Given the description of an element on the screen output the (x, y) to click on. 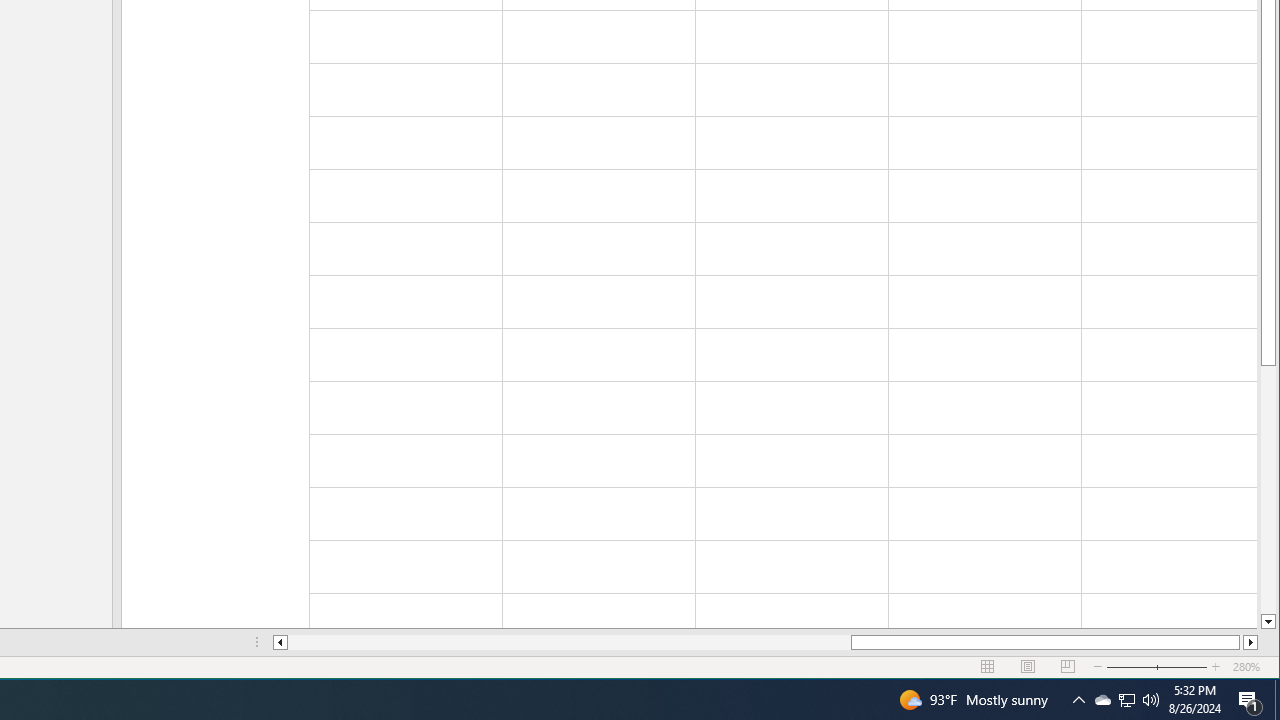
User Promoted Notification Area (1126, 699)
Line down (1268, 622)
Column left (279, 642)
Zoom In (1215, 667)
Column right (1250, 642)
Page left (569, 642)
